Given the description of an element on the screen output the (x, y) to click on. 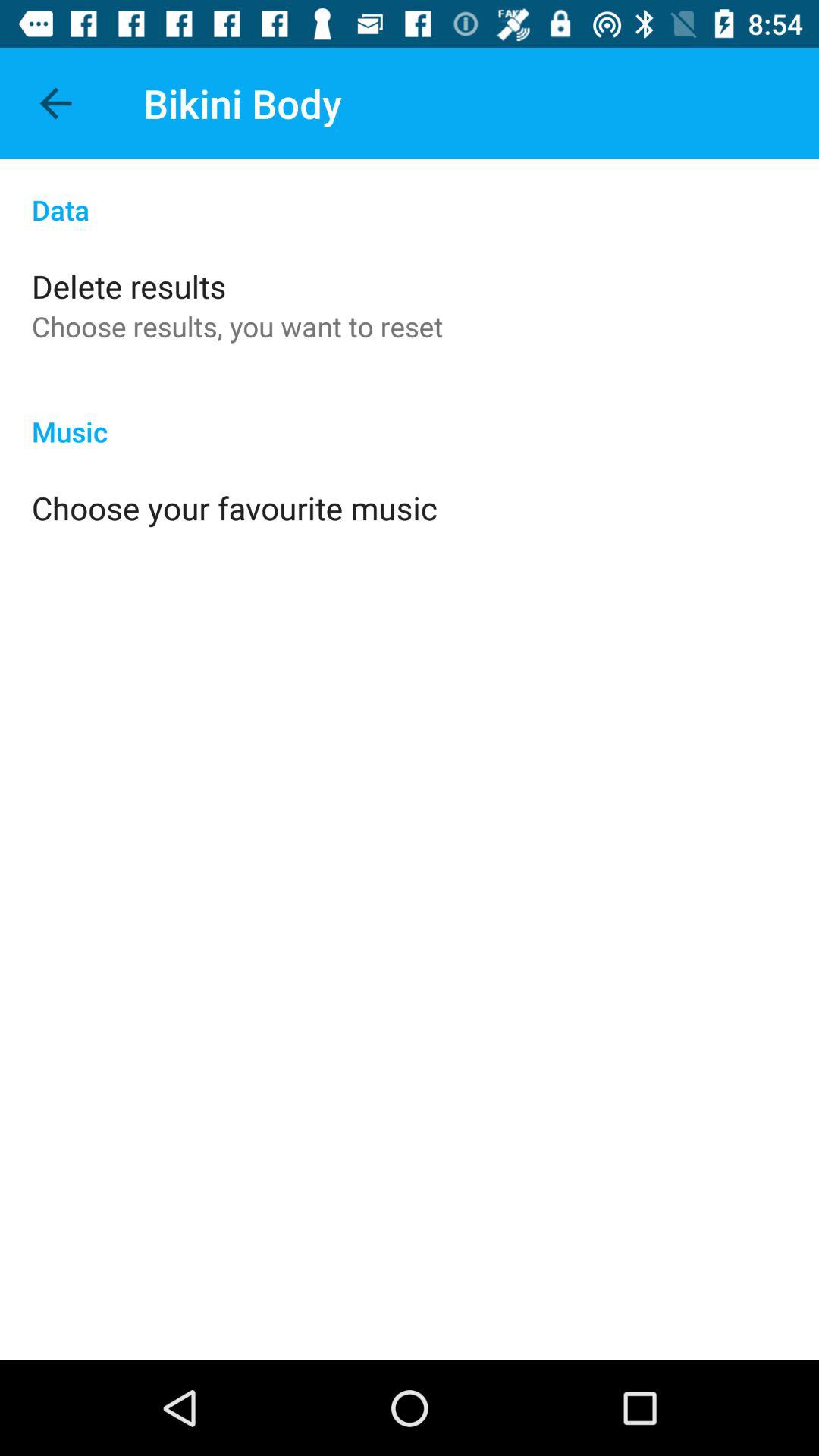
click the app below the delete results icon (237, 326)
